Given the description of an element on the screen output the (x, y) to click on. 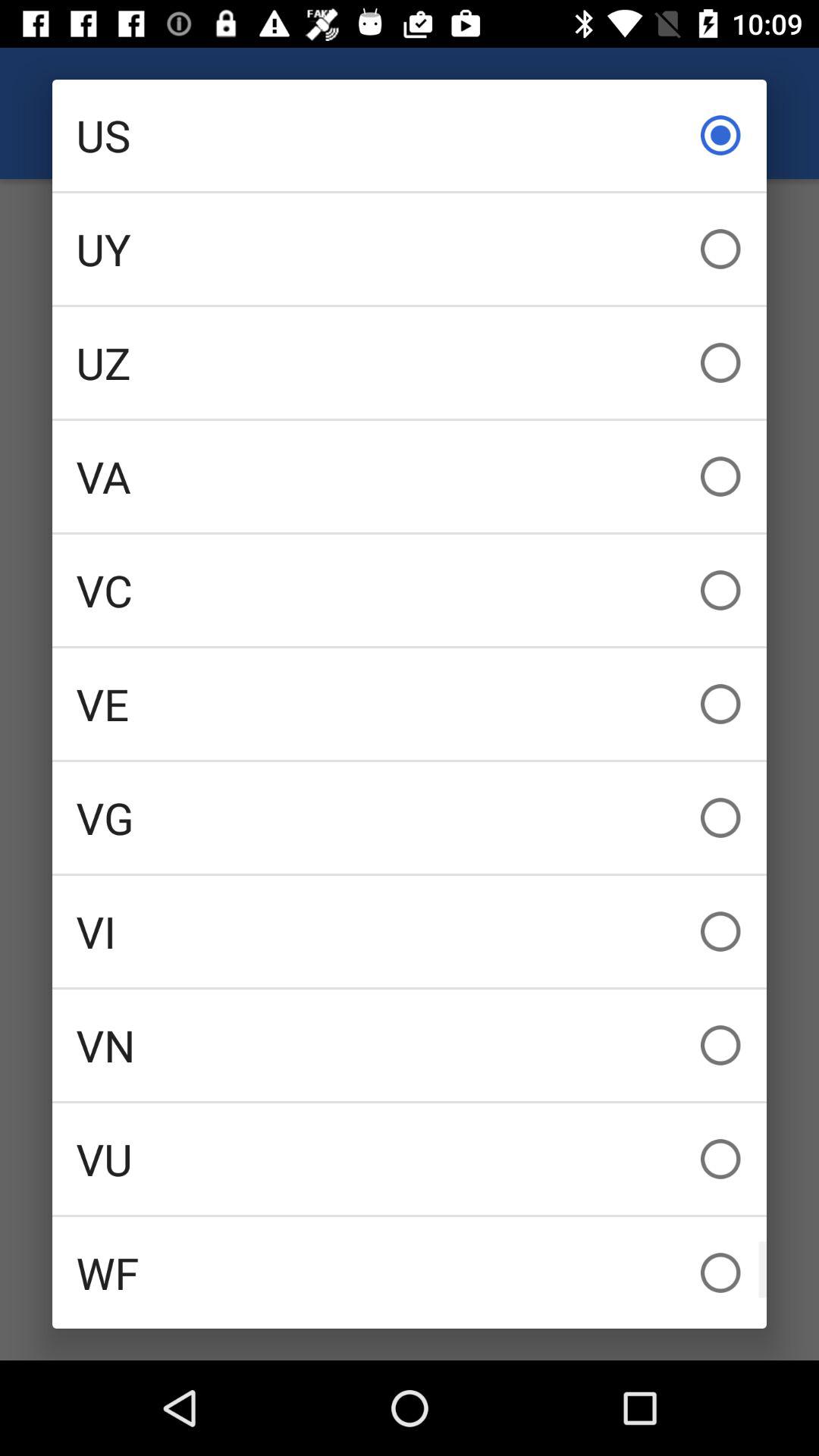
launch the item below va (409, 590)
